Given the description of an element on the screen output the (x, y) to click on. 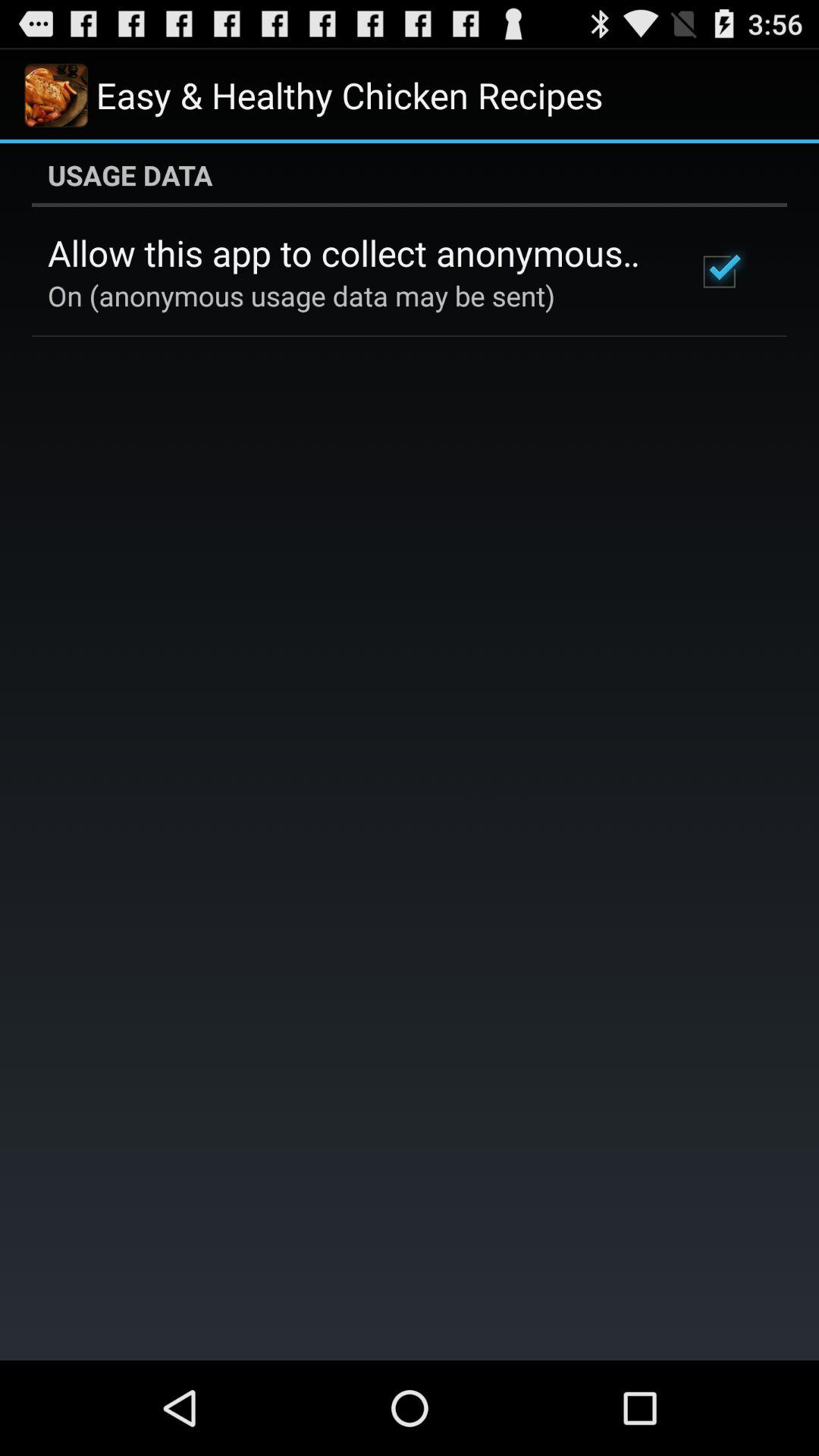
click icon below usage data app (351, 252)
